Given the description of an element on the screen output the (x, y) to click on. 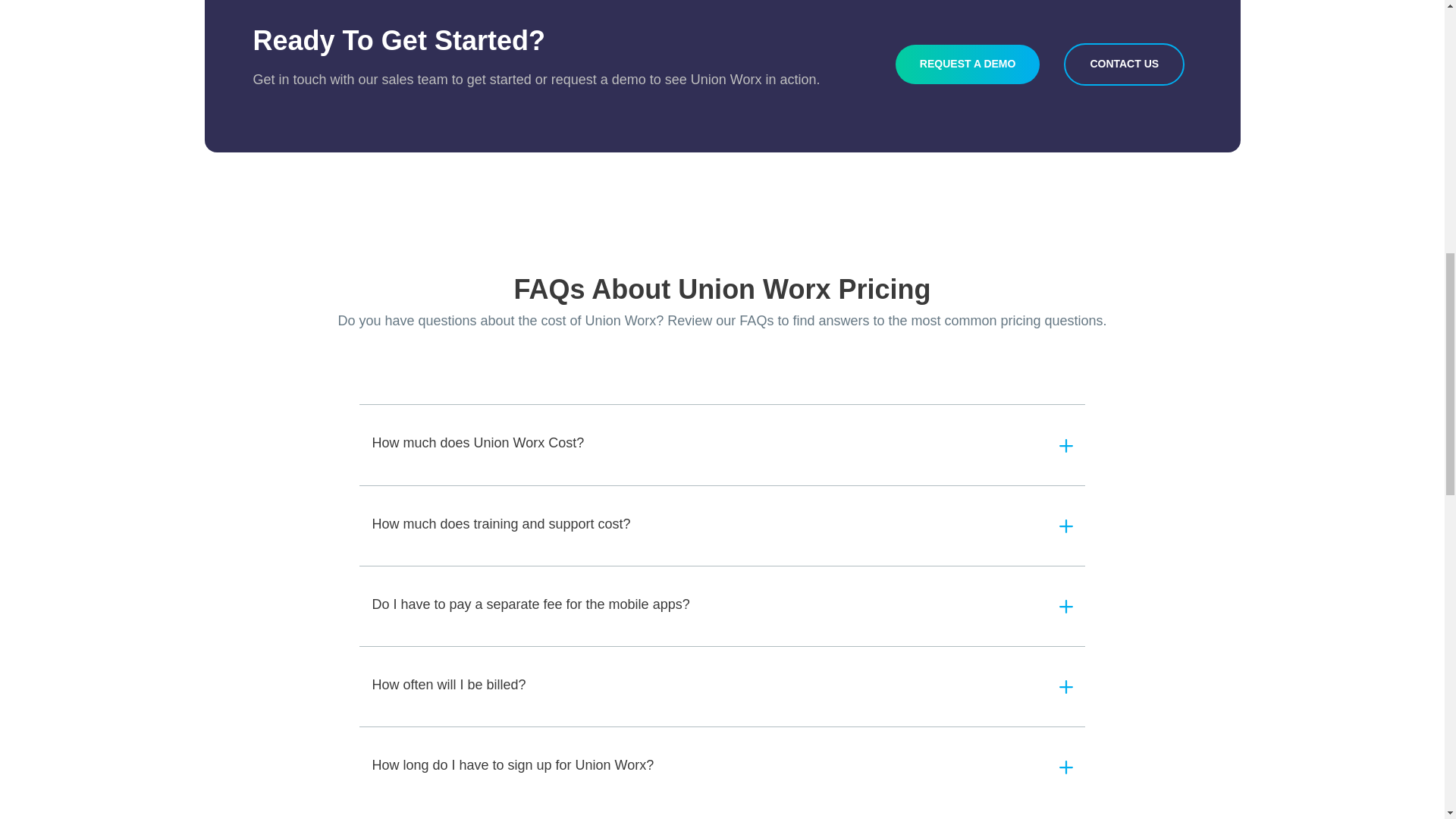
CONTACT US (1124, 64)
REQUEST A DEMO (968, 64)
